Given the description of an element on the screen output the (x, y) to click on. 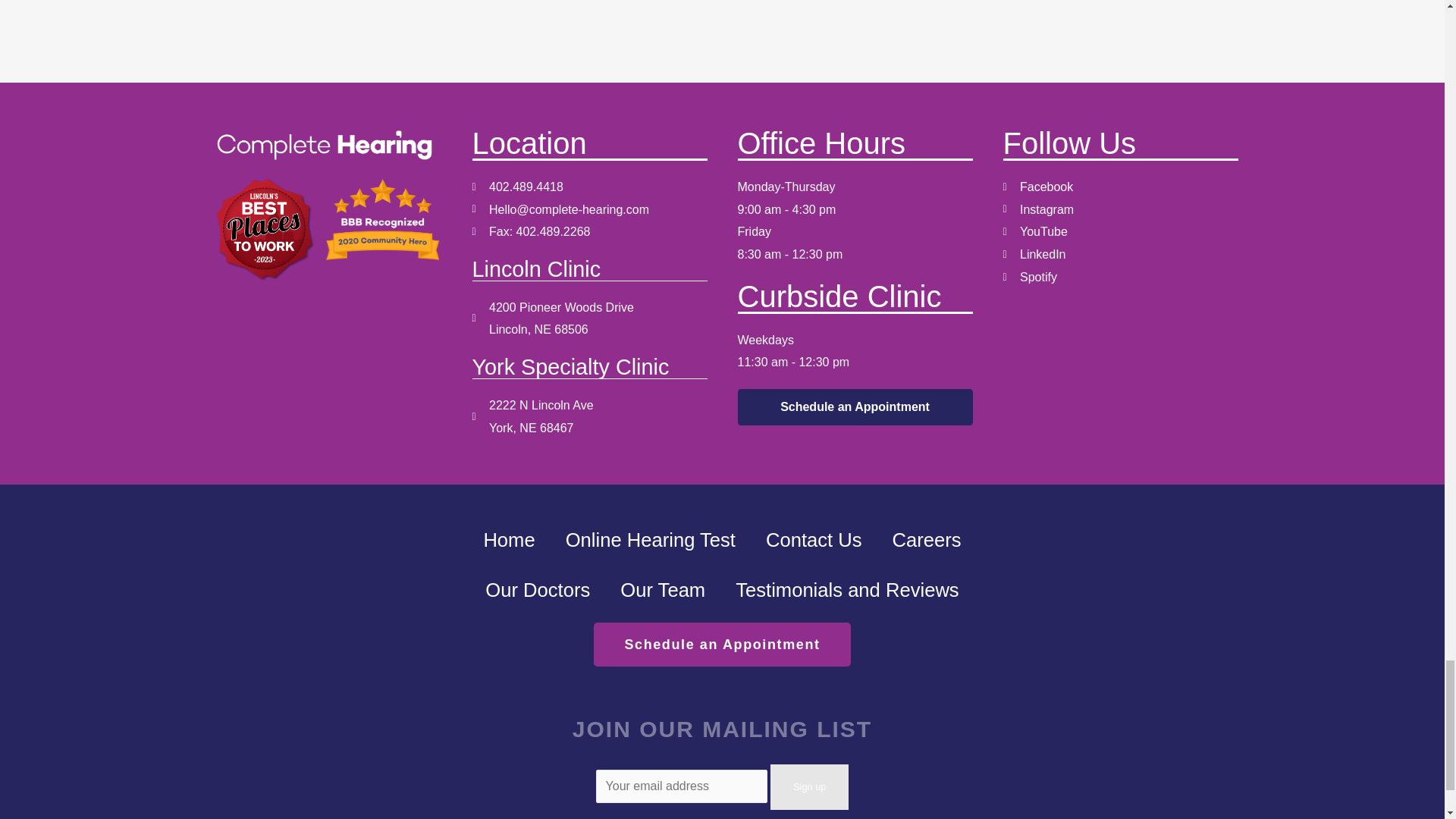
Sign up (809, 786)
